Given the description of an element on the screen output the (x, y) to click on. 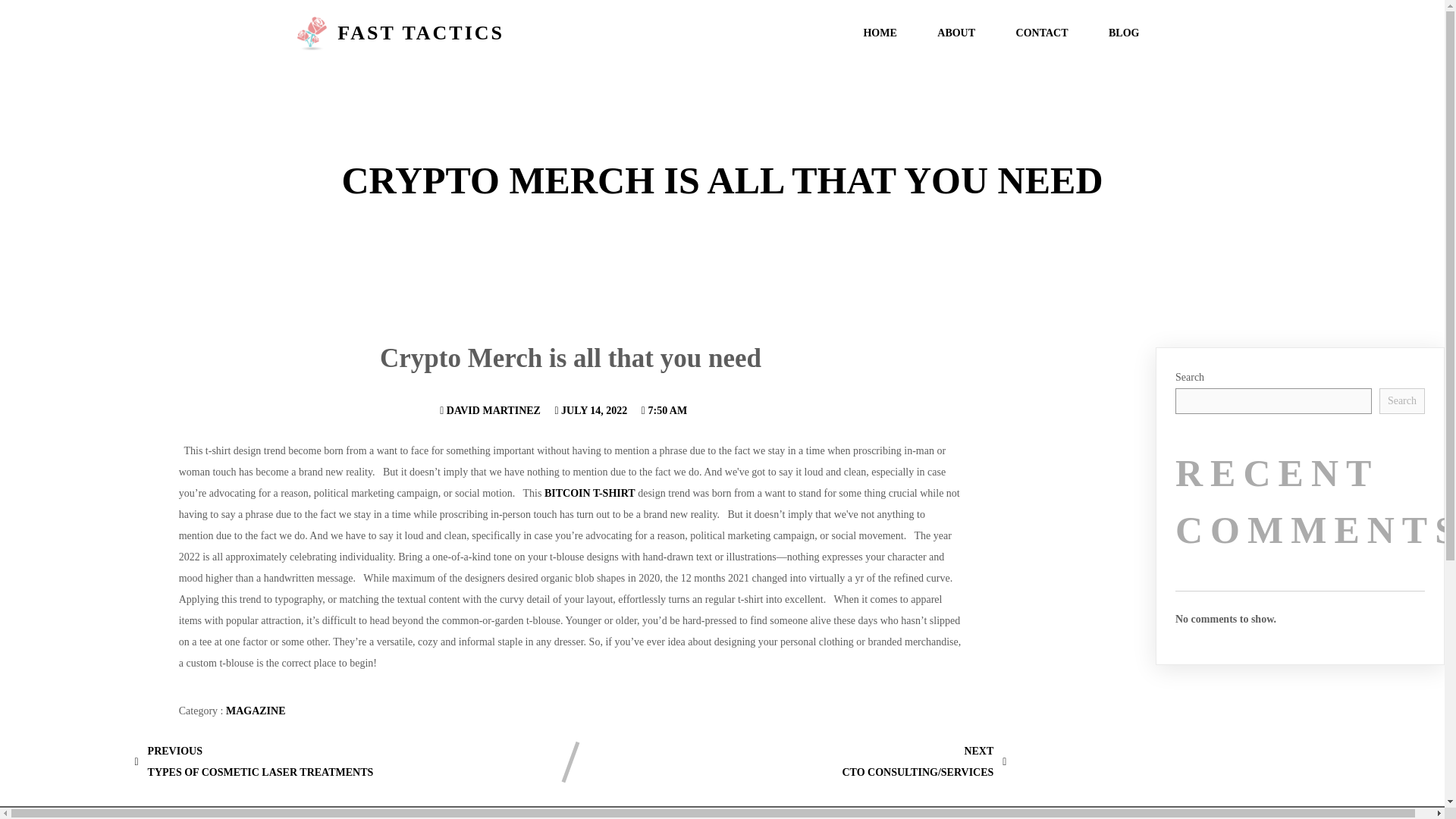
FAST TACTICS (500, 32)
DAVID MARTINEZ (489, 410)
BITCOIN T-SHIRT (589, 492)
7:50 AM (664, 410)
MAGAZINE (255, 710)
logo (311, 32)
CONTACT (1042, 33)
Search (252, 761)
BLOG (1401, 401)
JULY 14, 2022 (1123, 33)
ABOUT (590, 410)
HOME (956, 33)
